Given the description of an element on the screen output the (x, y) to click on. 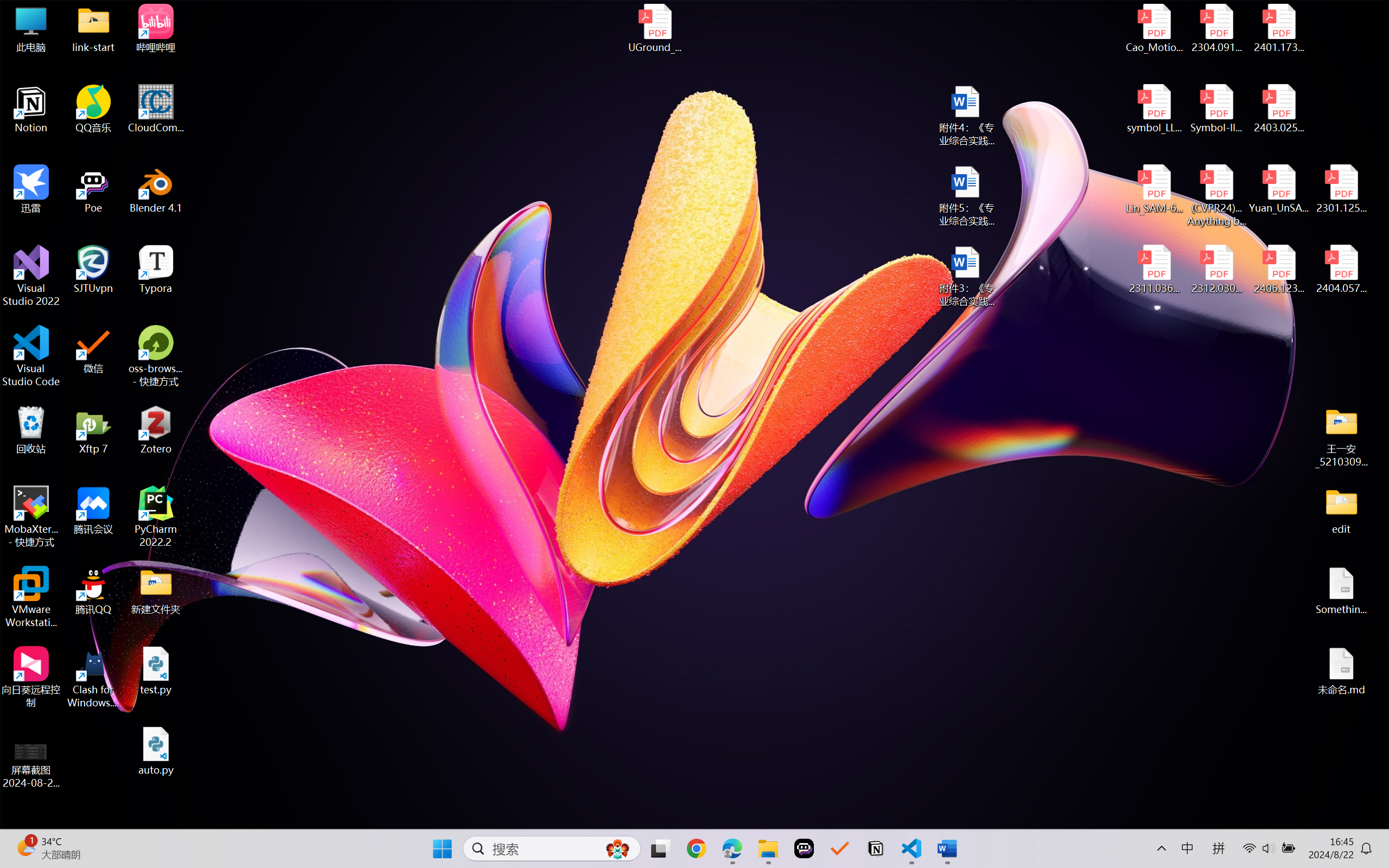
2304.09121v3.pdf (1216, 28)
test.py (156, 670)
auto.py (156, 751)
symbol_LLM.pdf (1154, 109)
(CVPR24)Matching Anything by Segmenting Anything.pdf (1216, 195)
Blender 4.1 (156, 189)
